Given the description of an element on the screen output the (x, y) to click on. 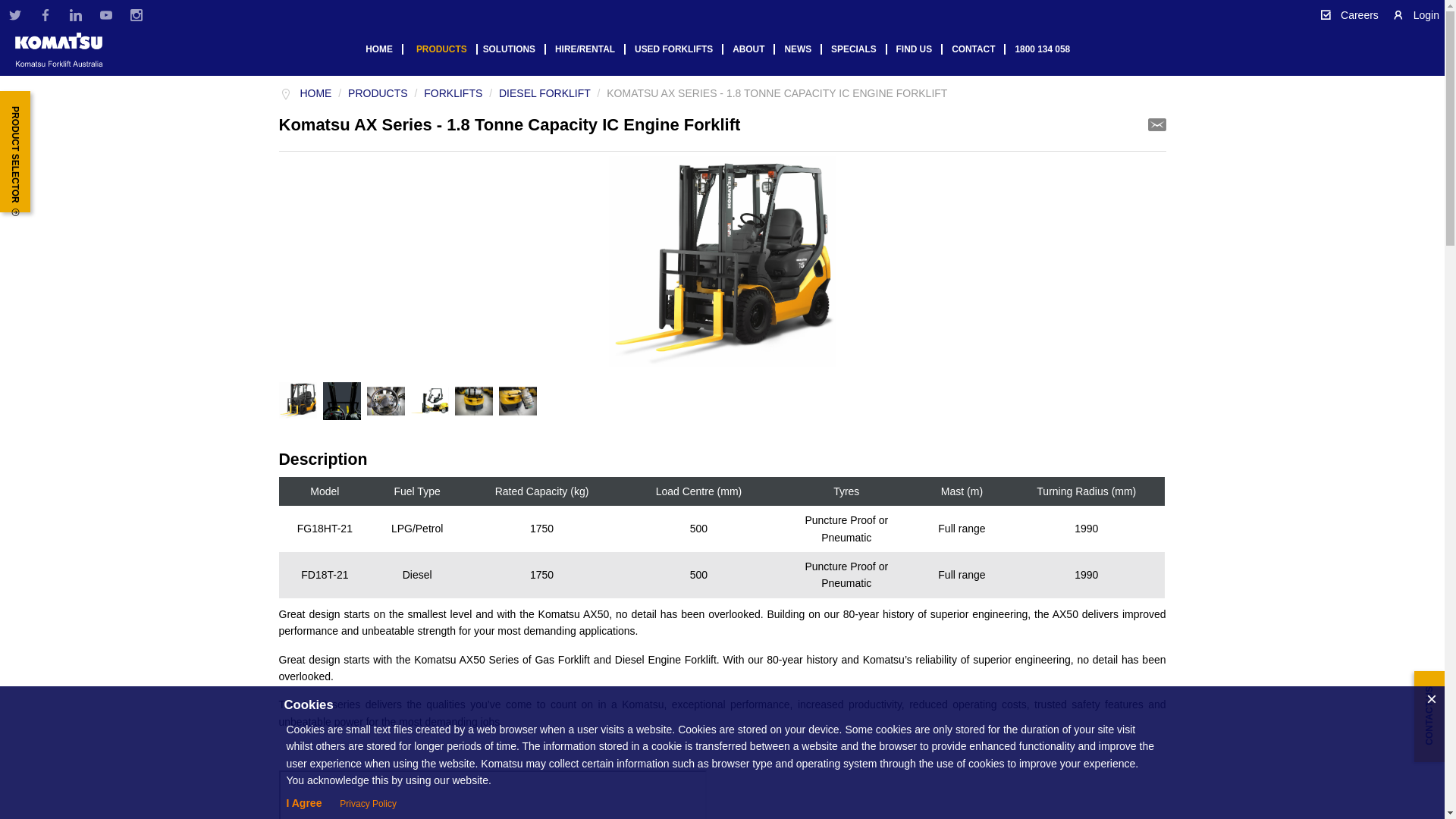
SPECIALS Element type: text (858, 48)
Privacy Policy Element type: text (367, 803)
PRODUCTS Element type: text (446, 48)
Email Element type: hover (1157, 124)
Careers Element type: text (1348, 15)
HOME Element type: text (384, 48)
Login Element type: text (1415, 15)
FORKLIFTS Element type: text (452, 93)
1800 134 058 Element type: text (1046, 48)
HOME Element type: text (315, 93)
HIRE/RENTAL Element type: text (590, 48)
FIND US Element type: text (919, 48)
PRODUCTS Element type: text (377, 93)
DIESEL FORKLIFT Element type: text (544, 93)
SOLUTIONS Element type: text (514, 48)
USED FORKLIFTS Element type: text (678, 48)
I Agree Element type: text (303, 803)
CONTACT Element type: text (978, 48)
ABOUT Element type: text (753, 48)
NEWS Element type: text (802, 48)
